Given the description of an element on the screen output the (x, y) to click on. 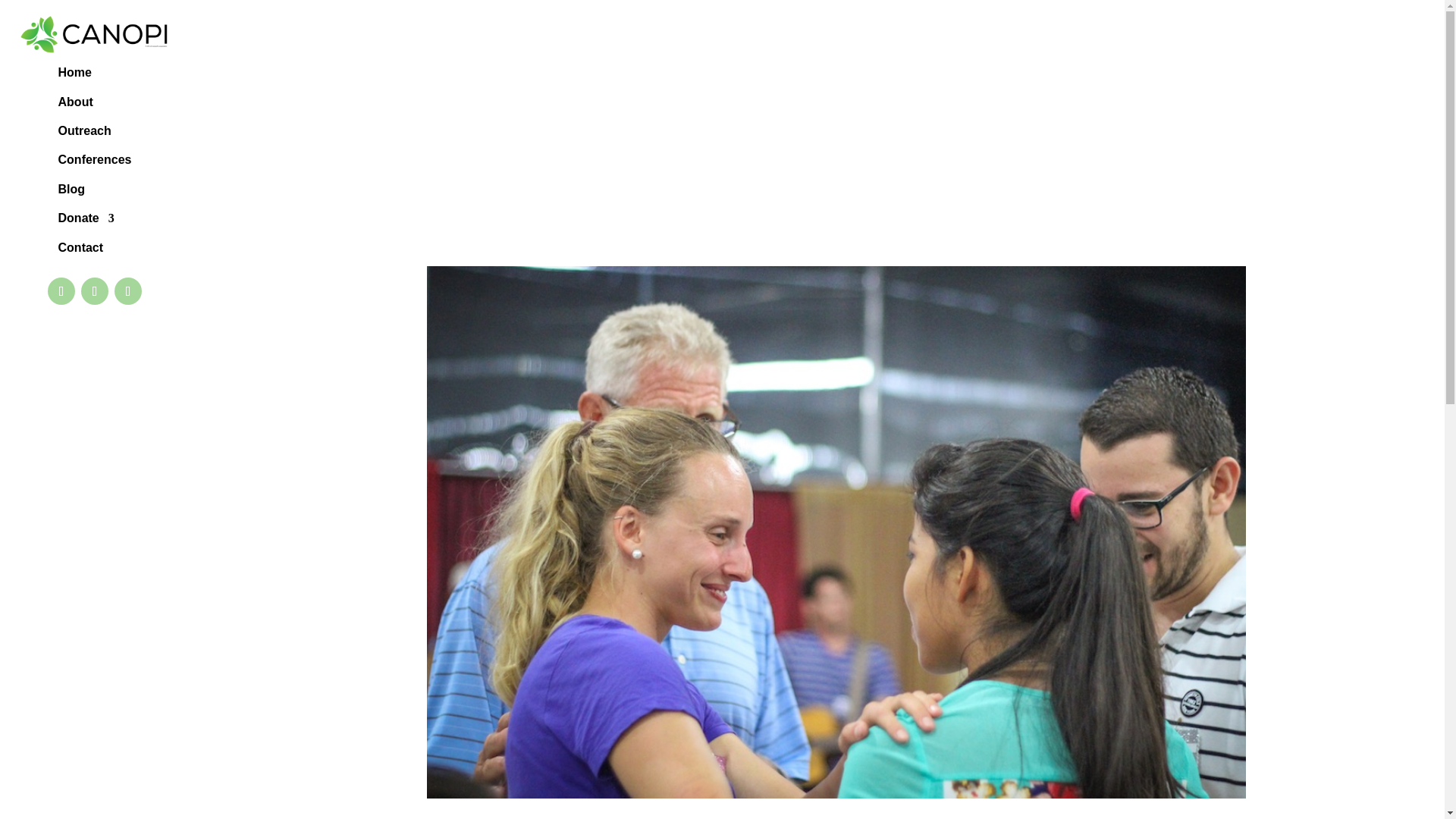
Follow on Twitter (94, 290)
Follow on Instagram (128, 290)
Blog (71, 191)
Contact (80, 250)
Follow on Facebook (61, 290)
CANOPI final file basic logo-03-edit-600 (94, 34)
Outreach (85, 133)
Home (74, 75)
About (75, 105)
Conferences (95, 162)
